Given the description of an element on the screen output the (x, y) to click on. 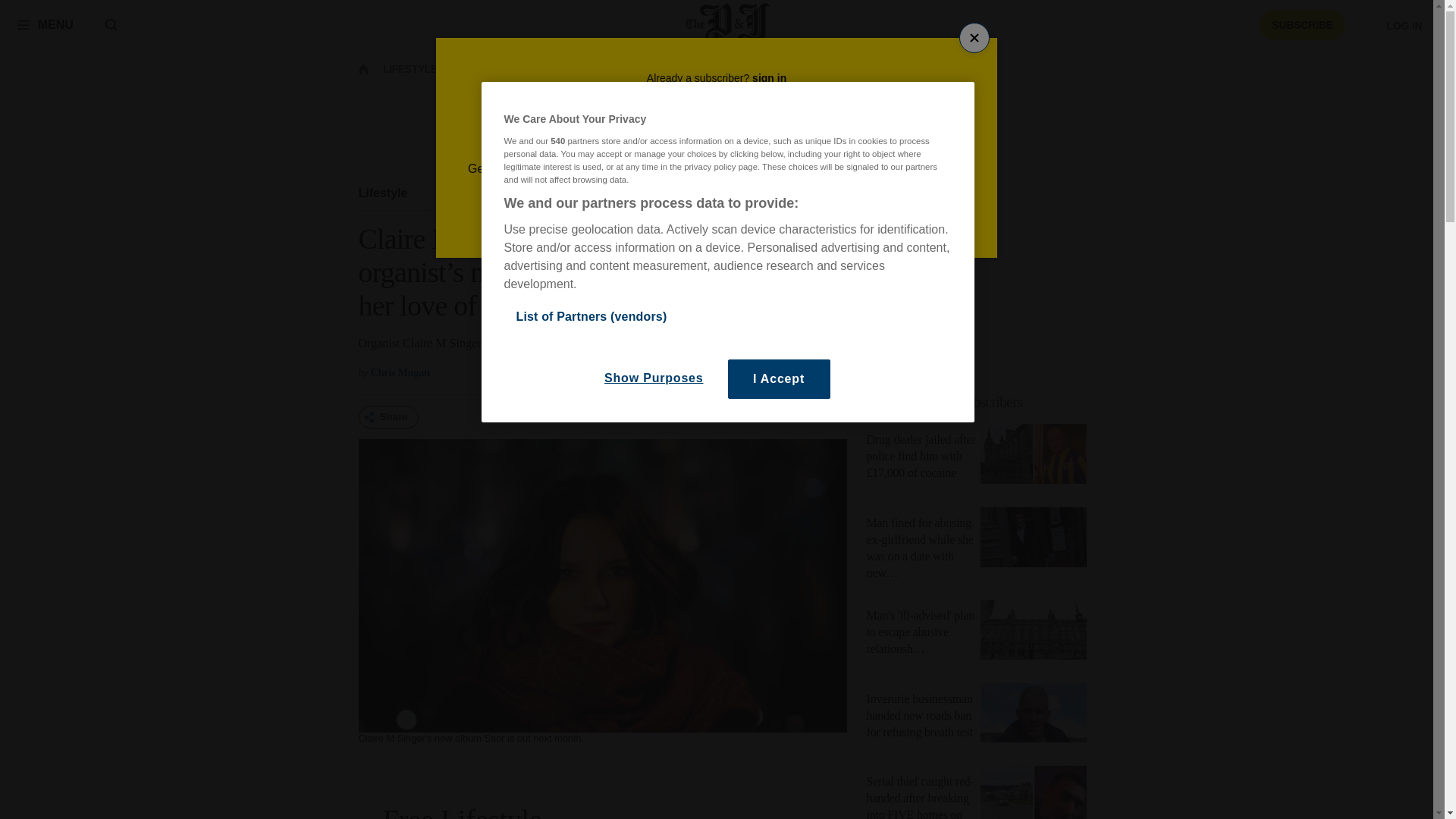
Press and Journal (727, 24)
Exclusive to our subscribers (981, 402)
MENU (44, 24)
Exclusive to our subscribers (944, 402)
